Given the description of an element on the screen output the (x, y) to click on. 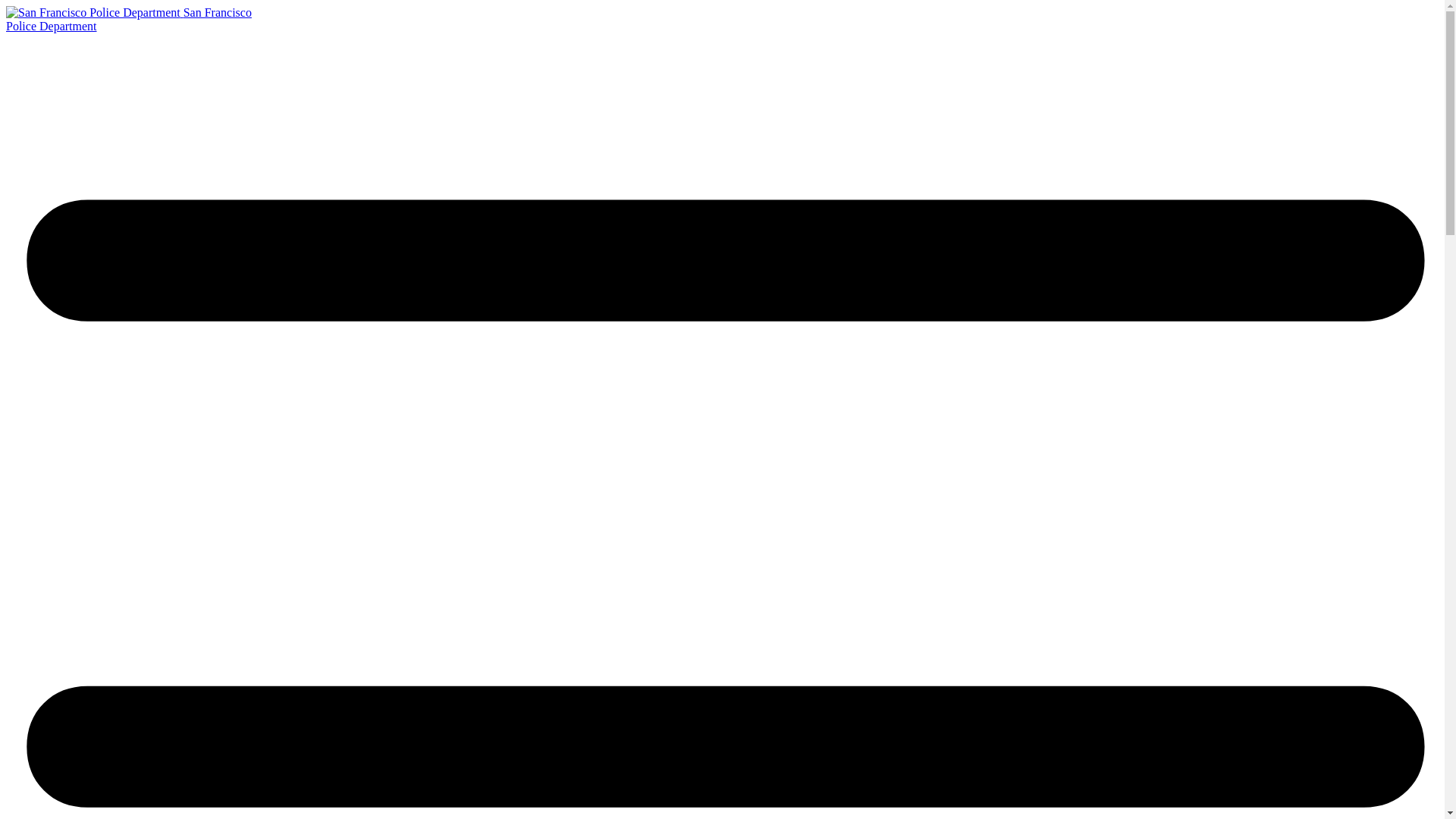
Home (128, 18)
Skip to main content (94, 11)
